Given the description of an element on the screen output the (x, y) to click on. 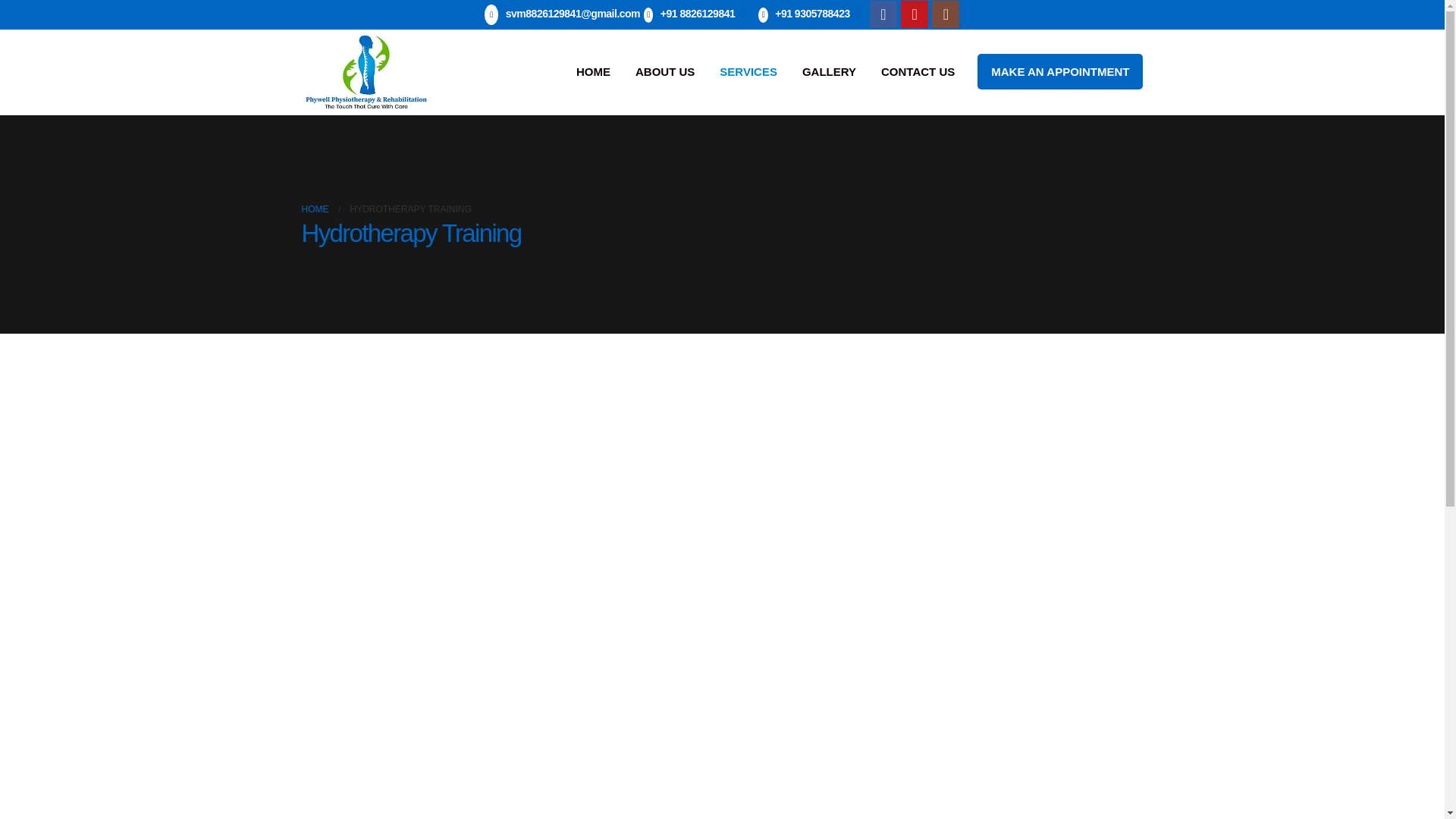
GALLERY (828, 71)
CONTACT US (917, 71)
HOME (593, 71)
Youtube (914, 13)
Go to Home Page (315, 208)
Facebook (882, 13)
ABOUT US (664, 71)
Instagram (945, 13)
MAKE AN APPOINTMENT (1059, 71)
Phywell Physiotherapy -  (365, 72)
